Given the description of an element on the screen output the (x, y) to click on. 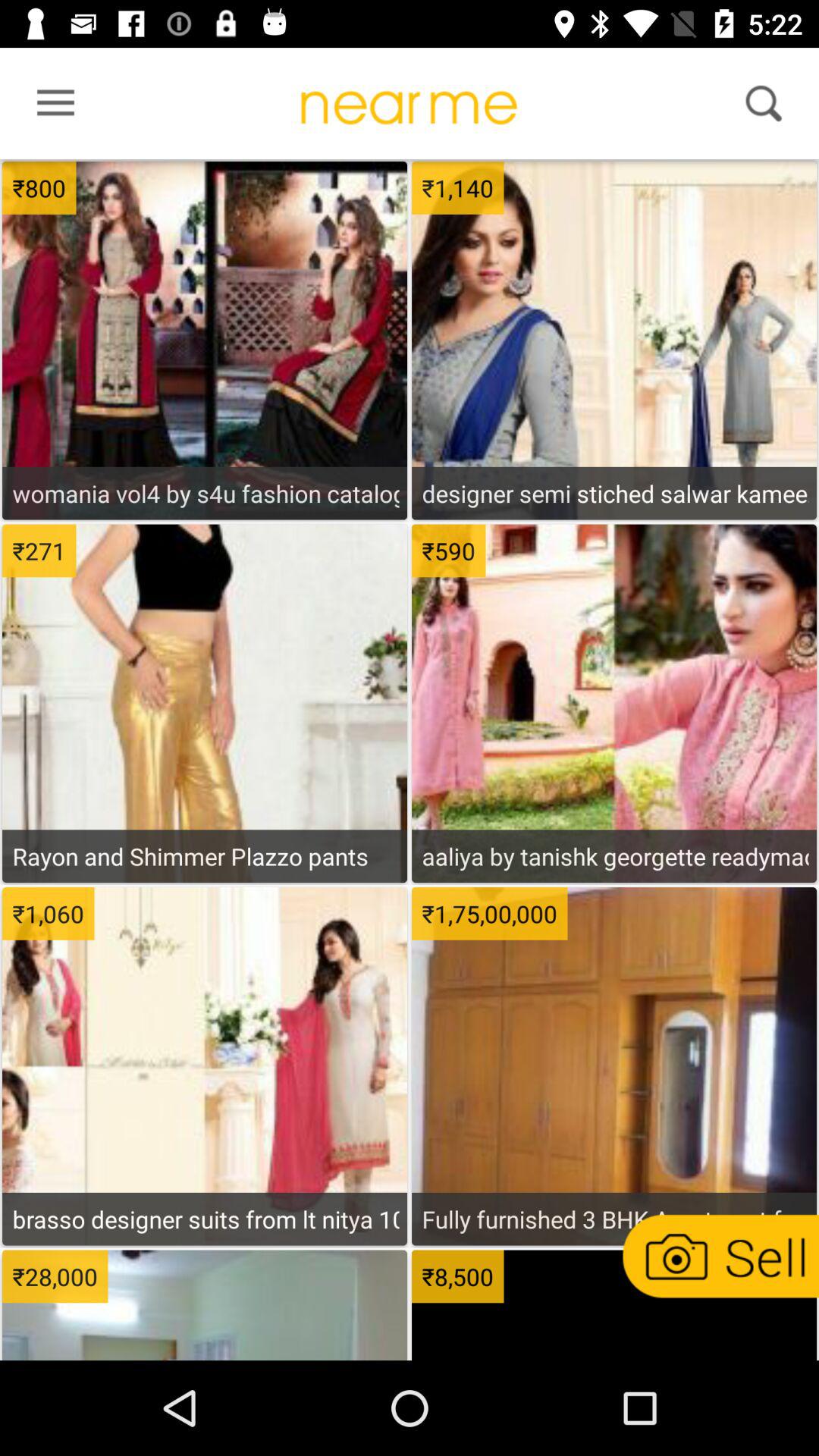
press the fully furnished 3 item (613, 1218)
